Given the description of an element on the screen output the (x, y) to click on. 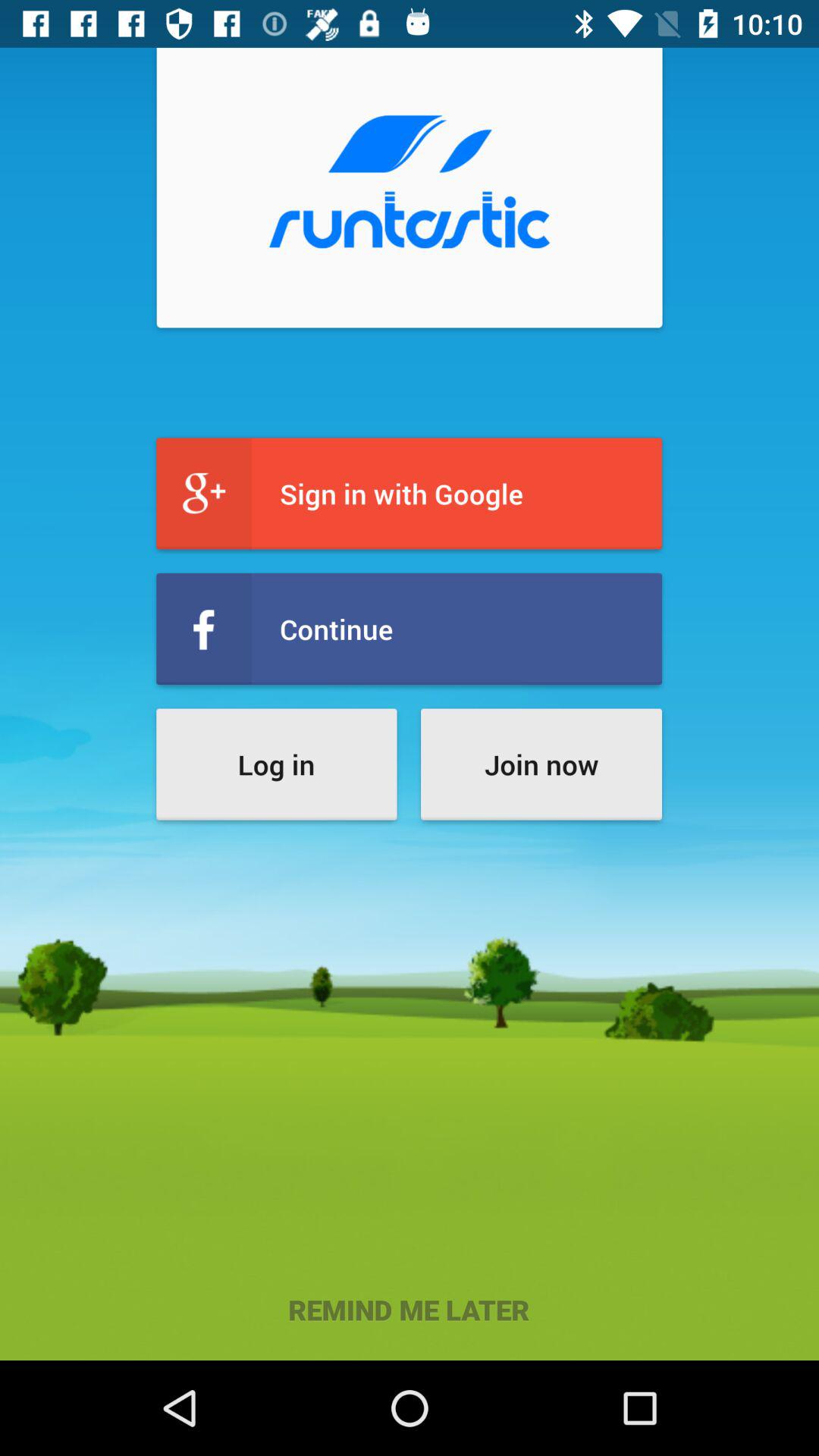
open the item to the left of join now item (276, 764)
